Given the description of an element on the screen output the (x, y) to click on. 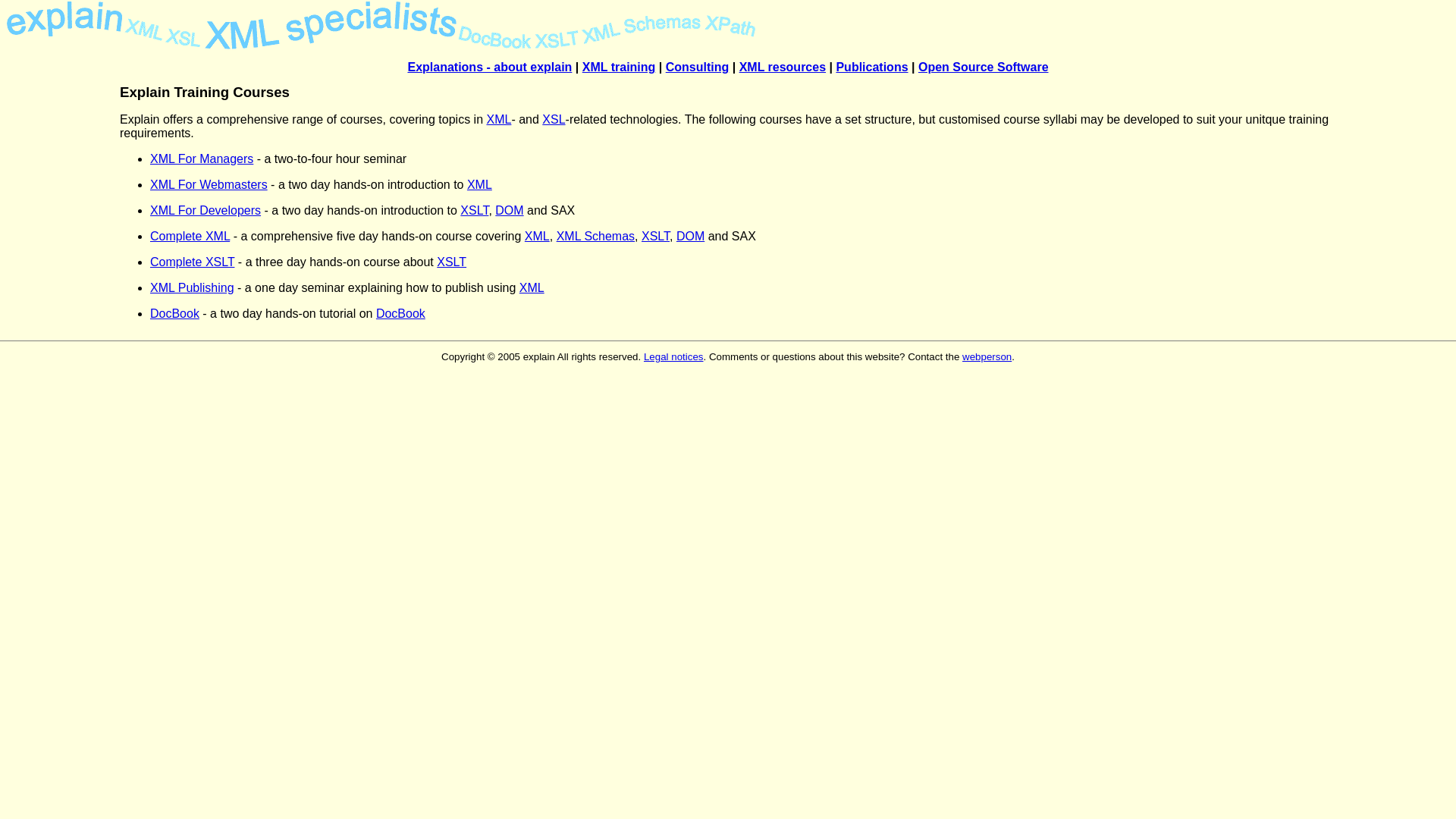
XML Element type: text (536, 235)
DOM Element type: text (509, 209)
Complete XML Element type: text (189, 235)
XML training Element type: text (618, 66)
Legal notices Element type: text (673, 356)
XML resources Element type: text (782, 66)
XSL Element type: text (553, 118)
XSLT Element type: text (451, 261)
XML Publishing Element type: text (192, 287)
DOM Element type: text (690, 235)
XML For Managers Element type: text (201, 158)
DocBook Element type: text (400, 313)
Consulting Element type: text (697, 66)
Explanations - about explain Element type: text (489, 66)
XML Element type: text (498, 118)
DocBook Element type: text (174, 313)
XML Element type: text (531, 287)
XML For Webmasters Element type: text (208, 184)
XSLT Element type: text (655, 235)
webperson Element type: text (986, 356)
Complete XSLT Element type: text (192, 261)
XML Schemas Element type: text (595, 235)
Open Source Software Element type: text (983, 66)
XSLT Element type: text (474, 209)
XML Element type: text (479, 184)
Publications Element type: text (871, 66)
XML For Developers Element type: text (205, 209)
